Given the description of an element on the screen output the (x, y) to click on. 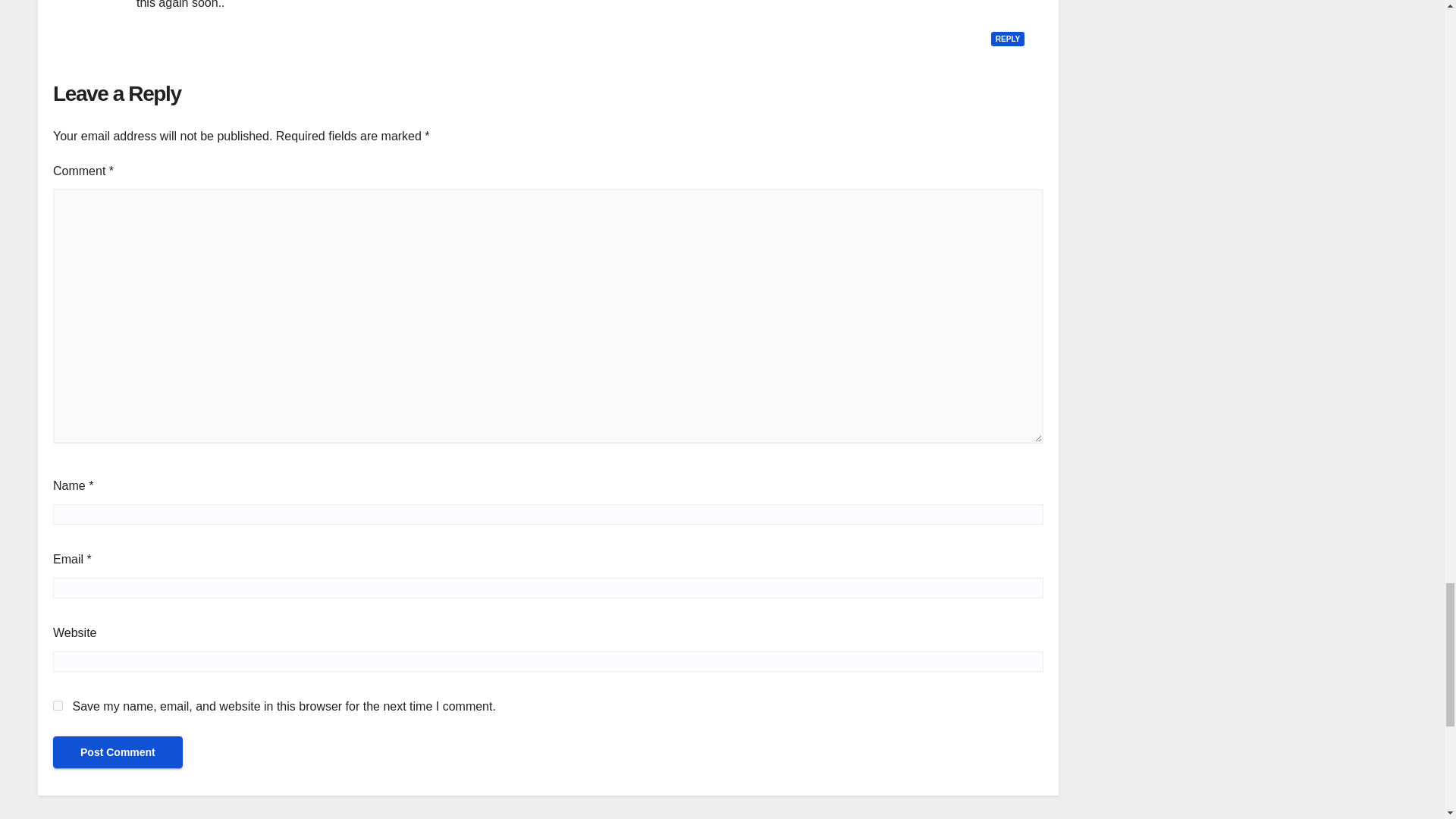
yes (57, 705)
Post Comment (117, 752)
